Given the description of an element on the screen output the (x, y) to click on. 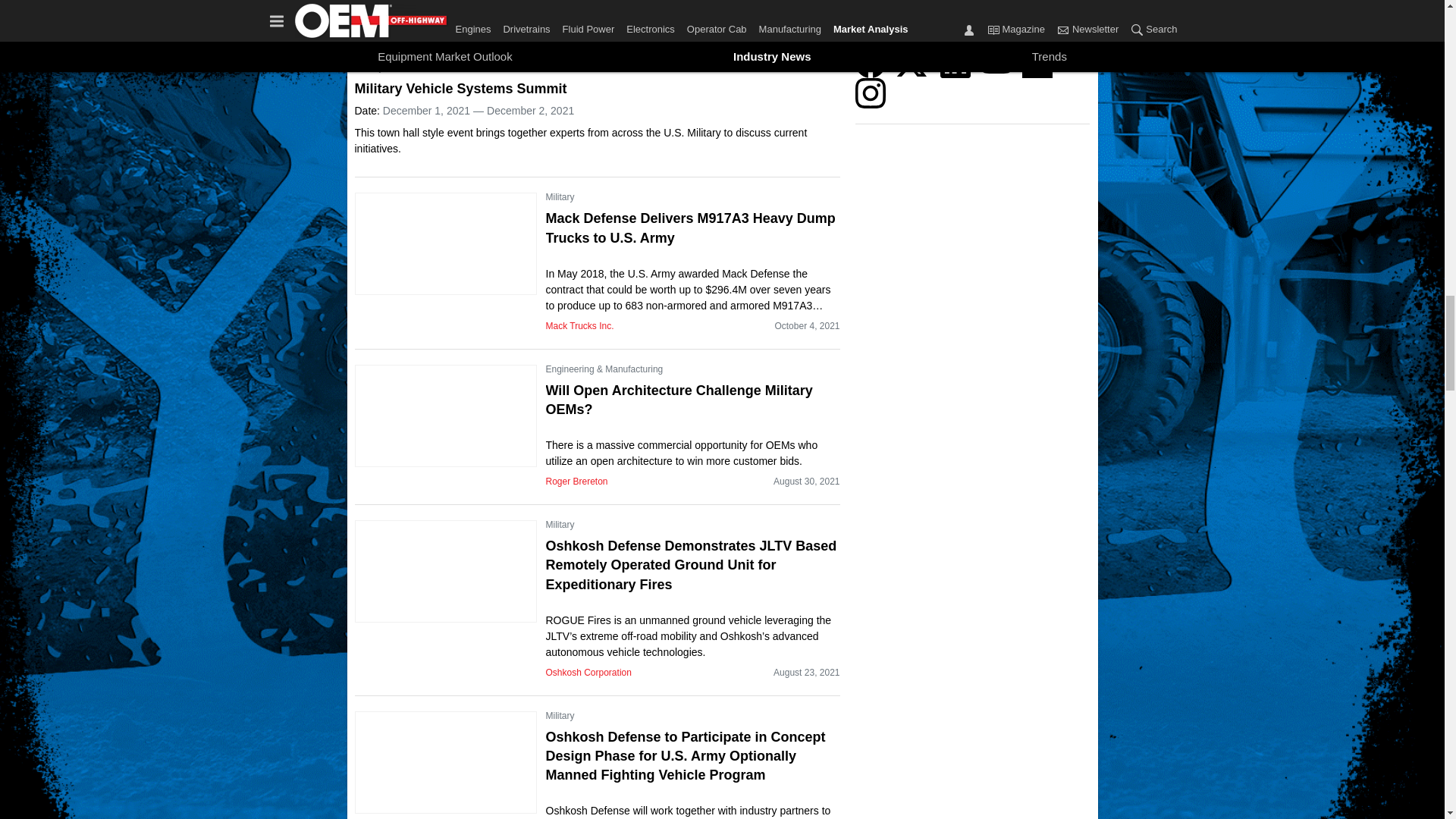
Instagram icon (870, 92)
LinkedIn icon (955, 62)
Facebook icon (870, 62)
Twitter X icon (911, 62)
YouTube icon (996, 62)
Flipboard icon (1037, 62)
